Given the description of an element on the screen output the (x, y) to click on. 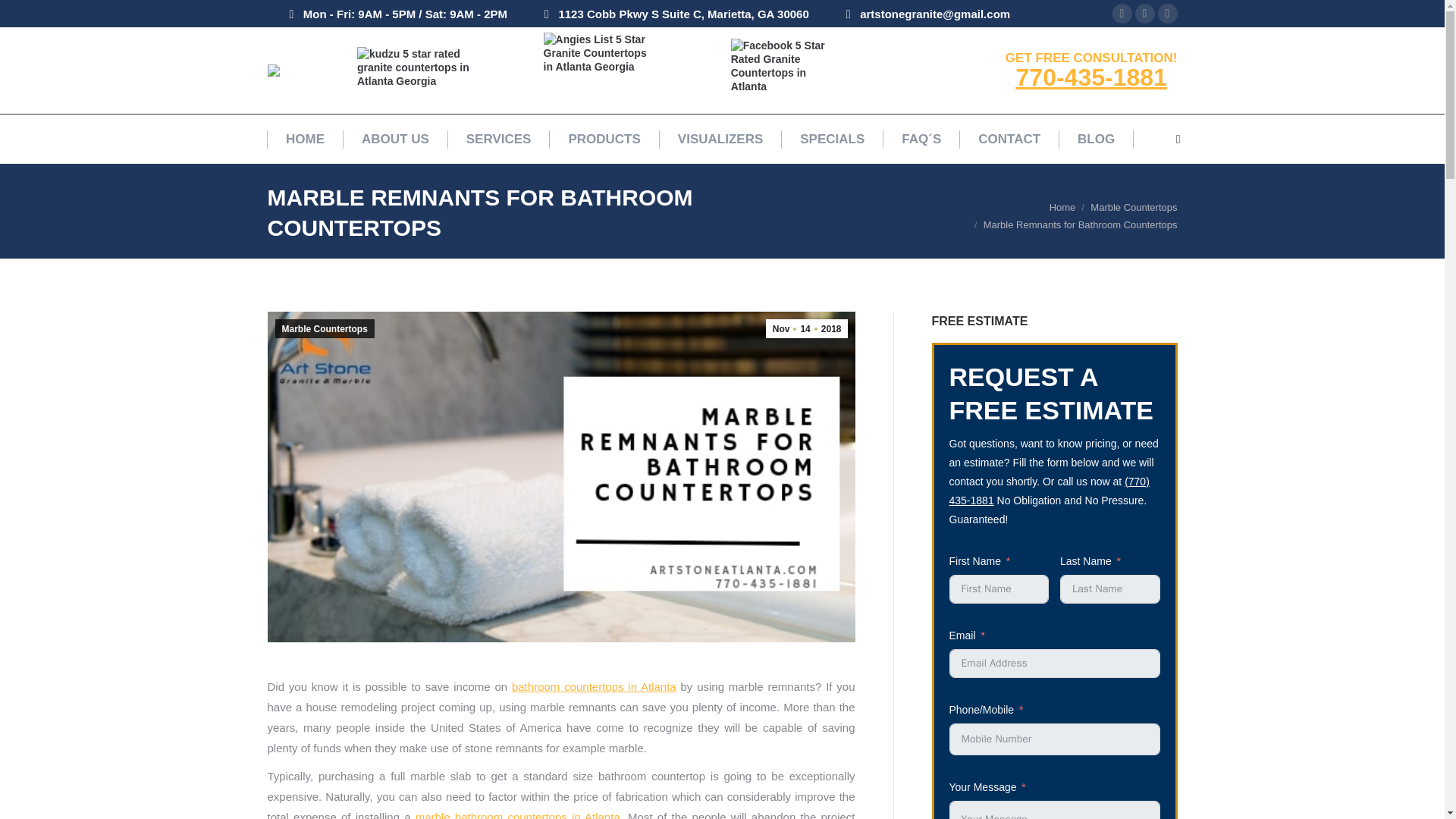
Pinterest page opens in new window (1144, 13)
Facebook page opens in new window (1122, 13)
HOME (304, 138)
PRODUCTS (603, 138)
Instagram page opens in new window (1167, 13)
Facebook page opens in new window (1122, 13)
VISUALIZERS (720, 138)
ABOUT US (395, 138)
SERVICES (498, 138)
Instagram page opens in new window (1167, 13)
Pinterest page opens in new window (1144, 13)
770-435-1881 (1091, 76)
